Given the description of an element on the screen output the (x, y) to click on. 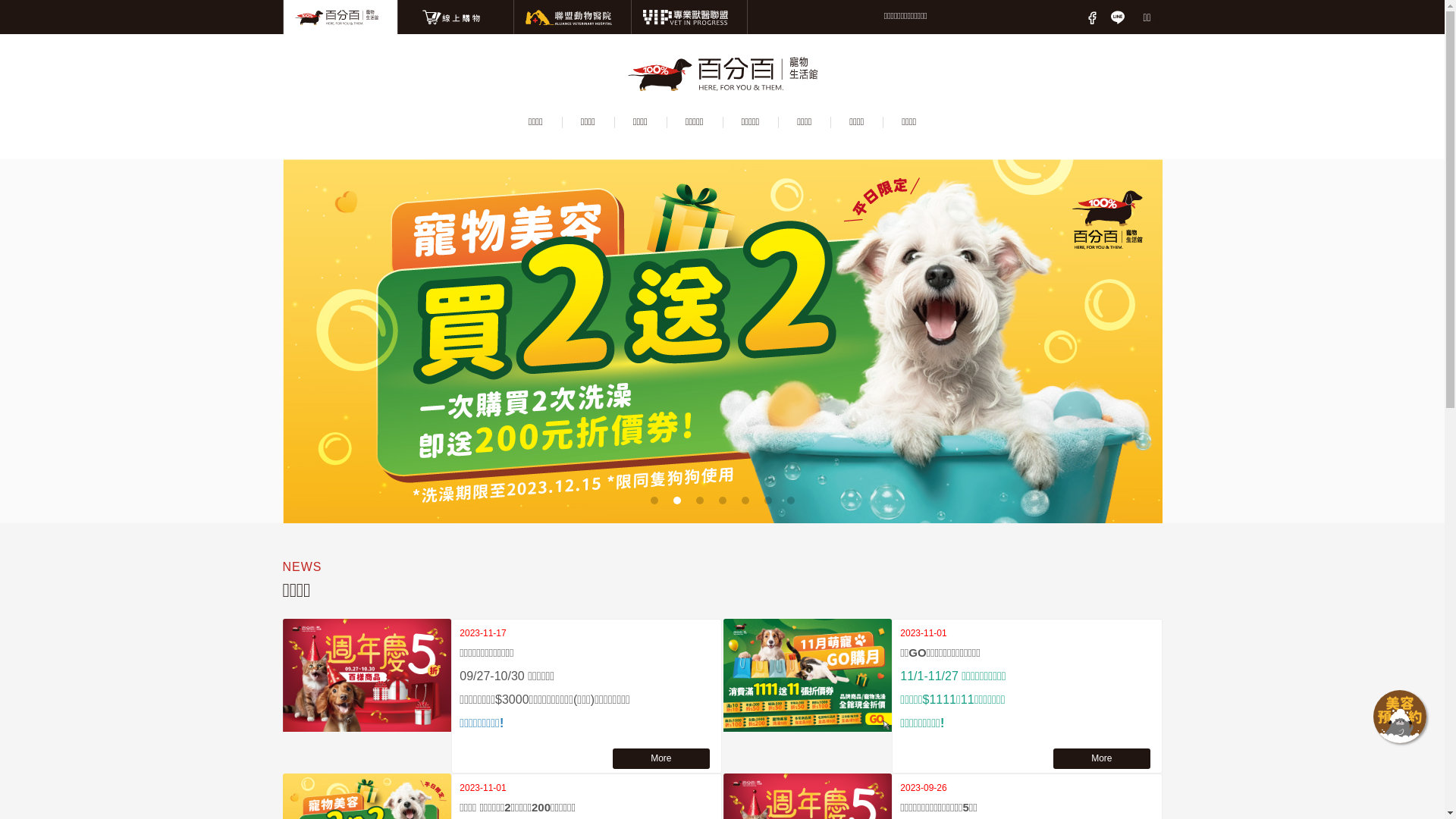
6 Element type: text (767, 500)
5 Element type: text (745, 500)
More Element type: text (1101, 758)
More Element type: text (660, 758)
7 Element type: text (790, 500)
1 Element type: text (654, 500)
3 Element type: text (699, 500)
4 Element type: text (722, 500)
2 Element type: text (676, 500)
